Given the description of an element on the screen output the (x, y) to click on. 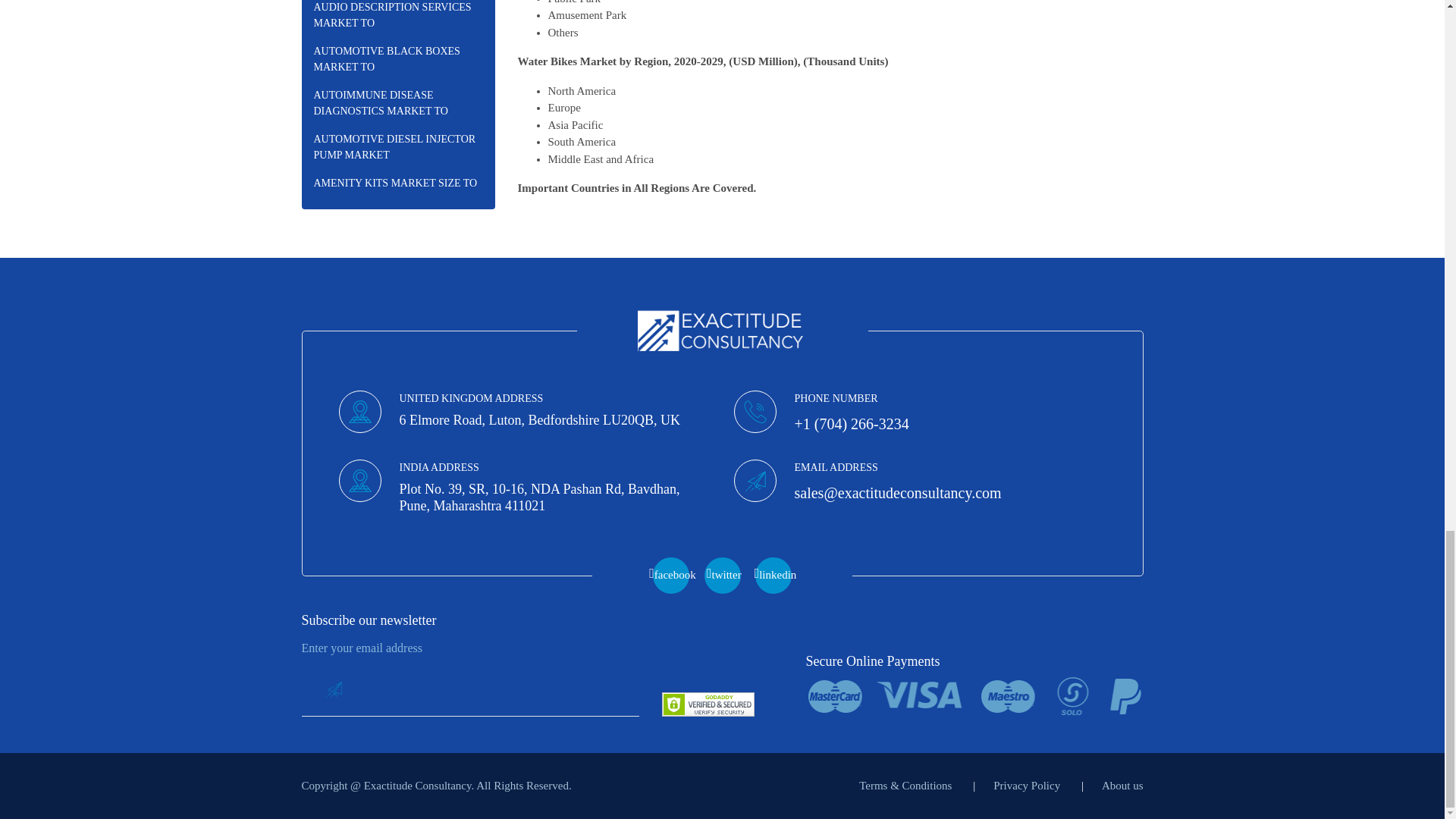
submit (333, 688)
submit (333, 688)
Exactitude Consultancy (721, 331)
Privacy Policy (1025, 785)
About us (1122, 785)
linkedin (773, 575)
facebook (670, 575)
twitter (721, 575)
